Given the description of an element on the screen output the (x, y) to click on. 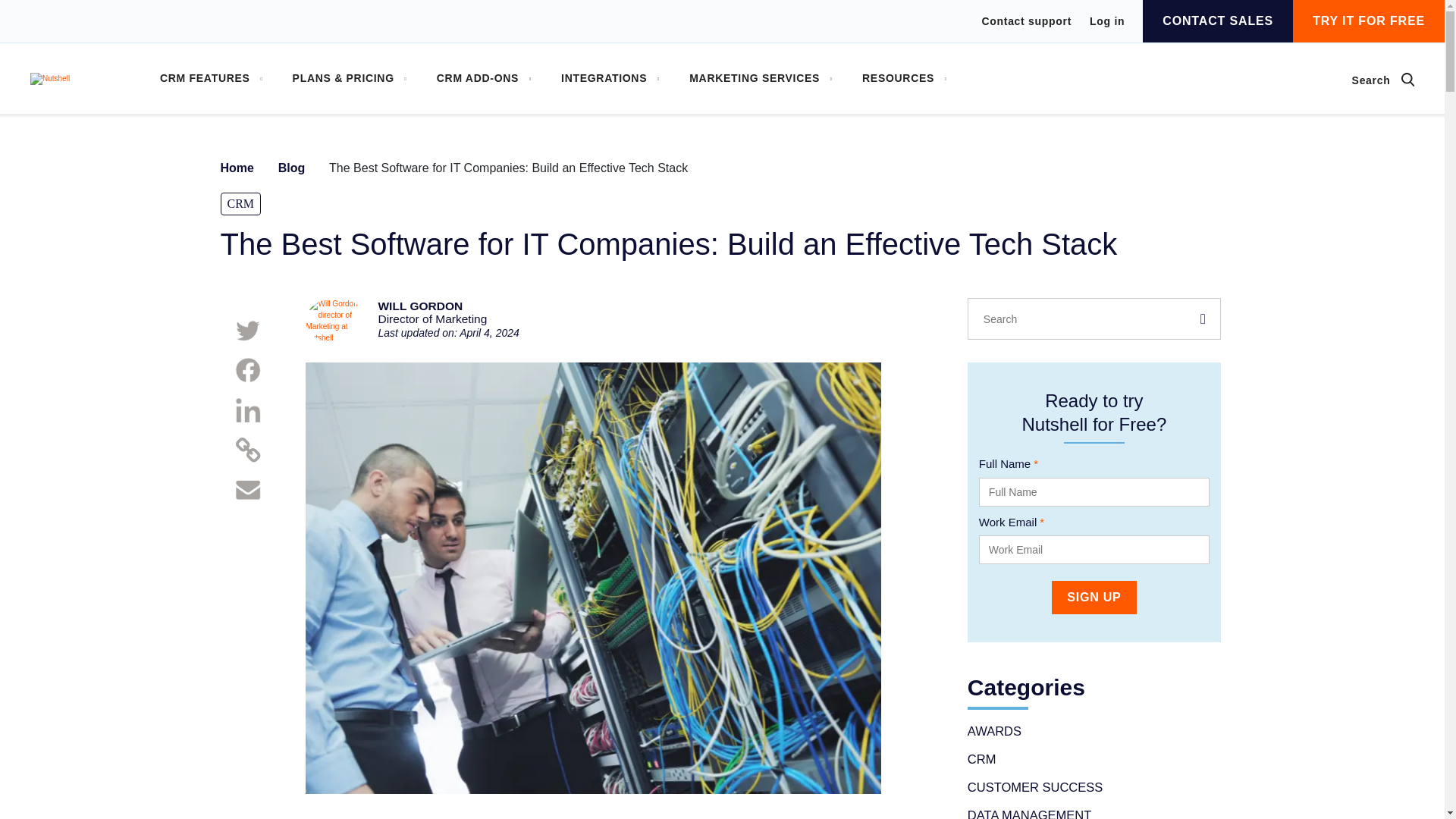
INTEGRATIONS (609, 78)
CRM FEATURES (211, 78)
Contact support (1026, 21)
Log in (1106, 20)
CRM ADD-ONS (483, 78)
Sign Up (1093, 597)
CONTACT SALES (1217, 21)
